Given the description of an element on the screen output the (x, y) to click on. 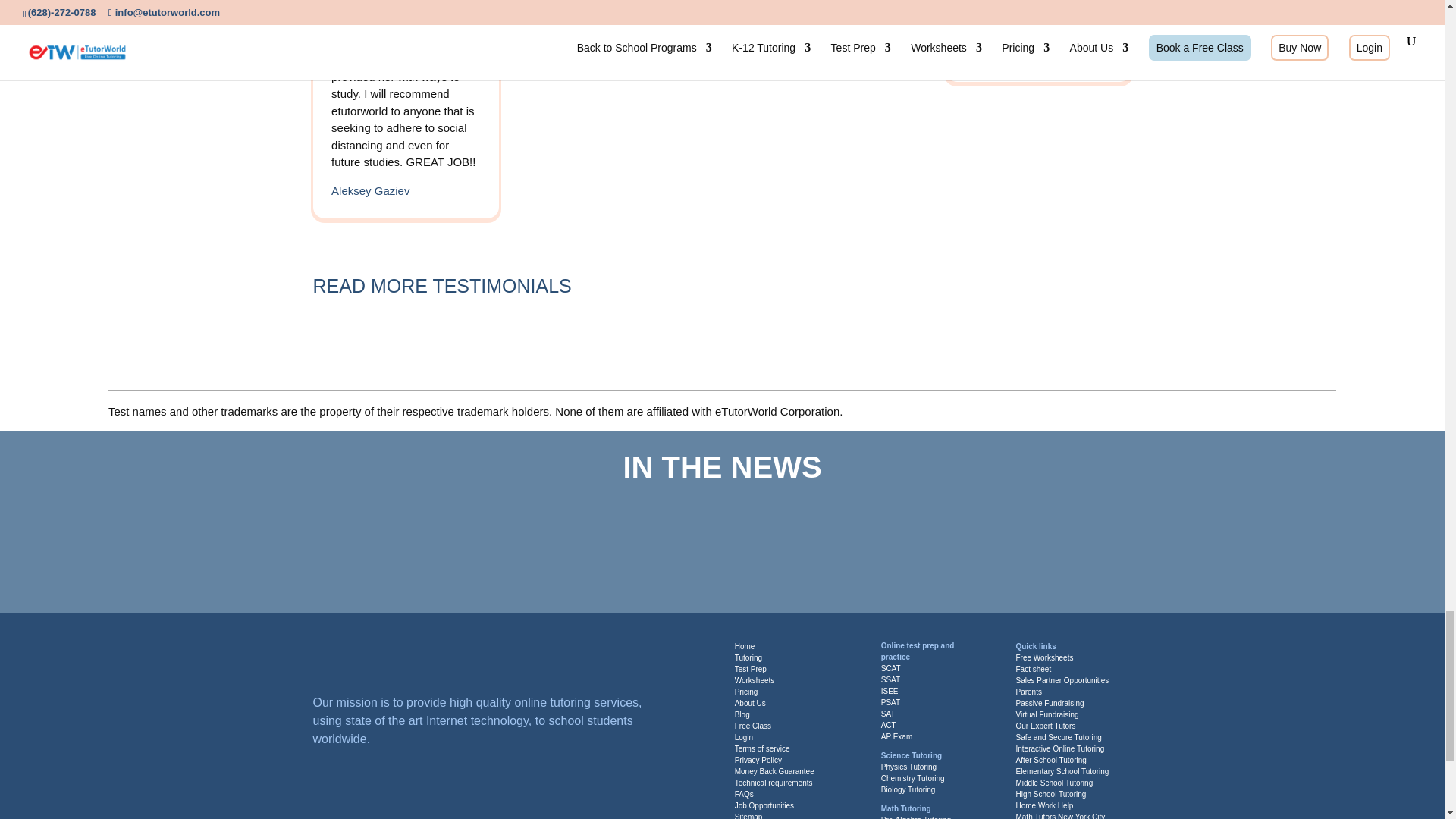
tutoring-infographic-arrow-1-1 (655, 288)
Business Insider (557, 539)
Logo-eTutorWorld-wordmark-white (412, 660)
WSJ (285, 539)
